Given the description of an element on the screen output the (x, y) to click on. 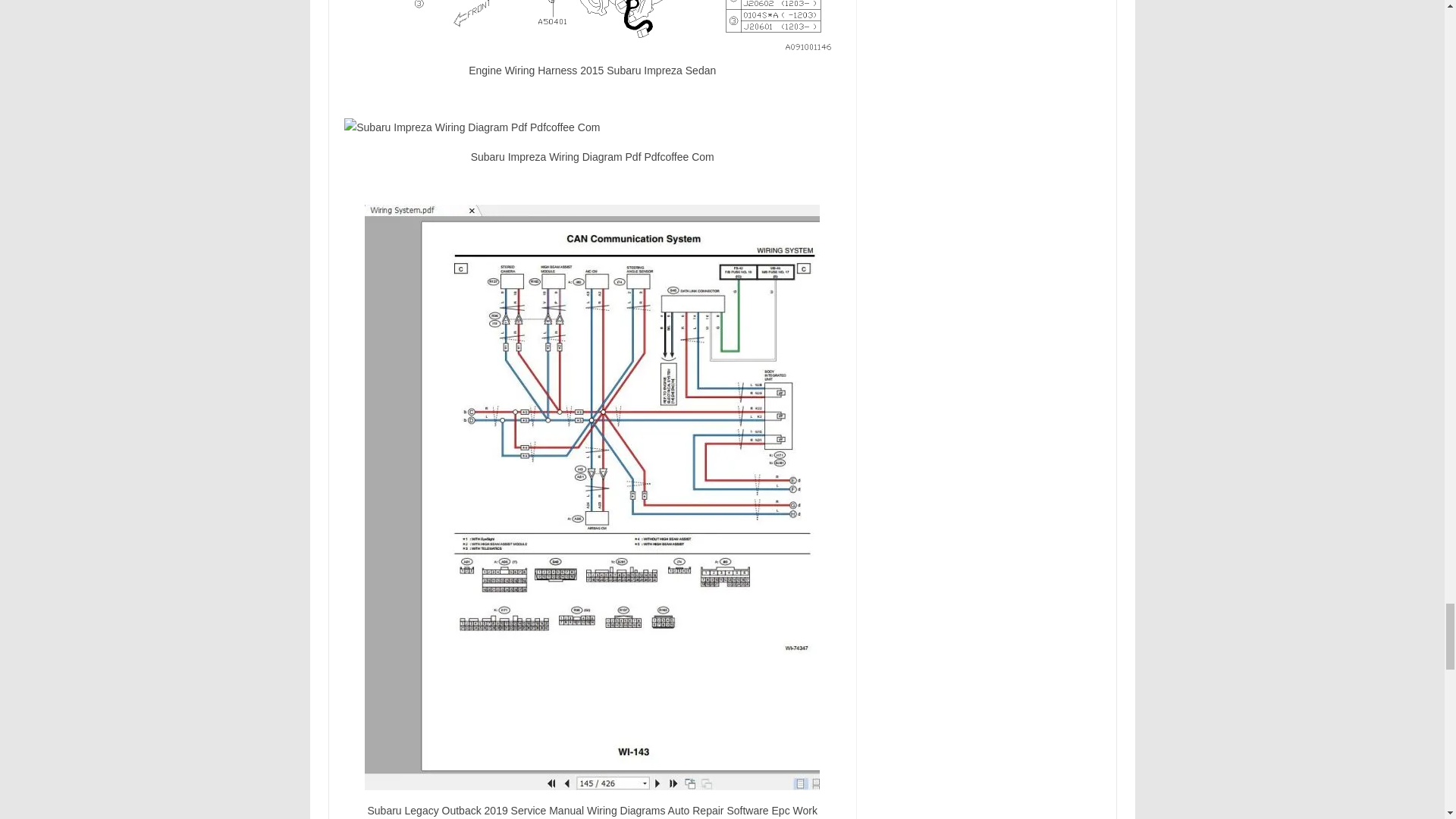
Engine Wiring Harness 2015 Subaru Impreza Sedan (591, 24)
Subaru Impreza Wiring Diagram Pdf Pdfcoffee Com (591, 126)
